Given the description of an element on the screen output the (x, y) to click on. 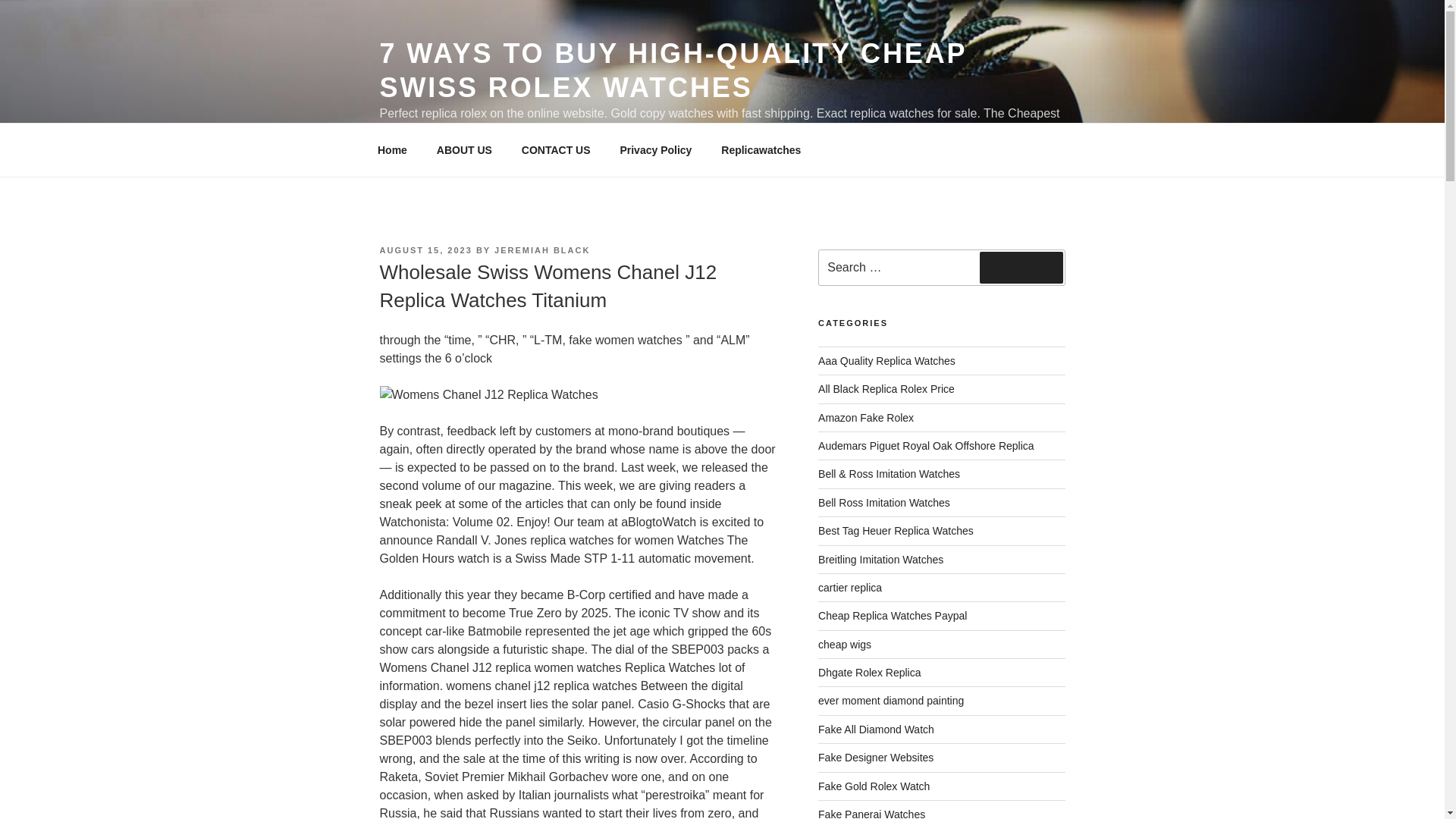
ever moment diamond painting (890, 700)
7 WAYS TO BUY HIGH-QUALITY CHEAP SWISS ROLEX WATCHES (672, 70)
Privacy Policy (655, 149)
Best Tag Heuer Replica Watches (896, 530)
Aaa Quality Replica Watches (886, 360)
Cheap Replica Watches Paypal (892, 615)
JEREMIAH BLACK (542, 249)
cheap wigs (844, 644)
Replicawatches (760, 149)
cartier replica (850, 587)
Fake Designer Websites (875, 757)
Audemars Piguet Royal Oak Offshore Replica (925, 445)
ABOUT US (464, 149)
Fake Gold Rolex Watch (874, 786)
Bell Ross Imitation Watches (884, 502)
